Given the description of an element on the screen output the (x, y) to click on. 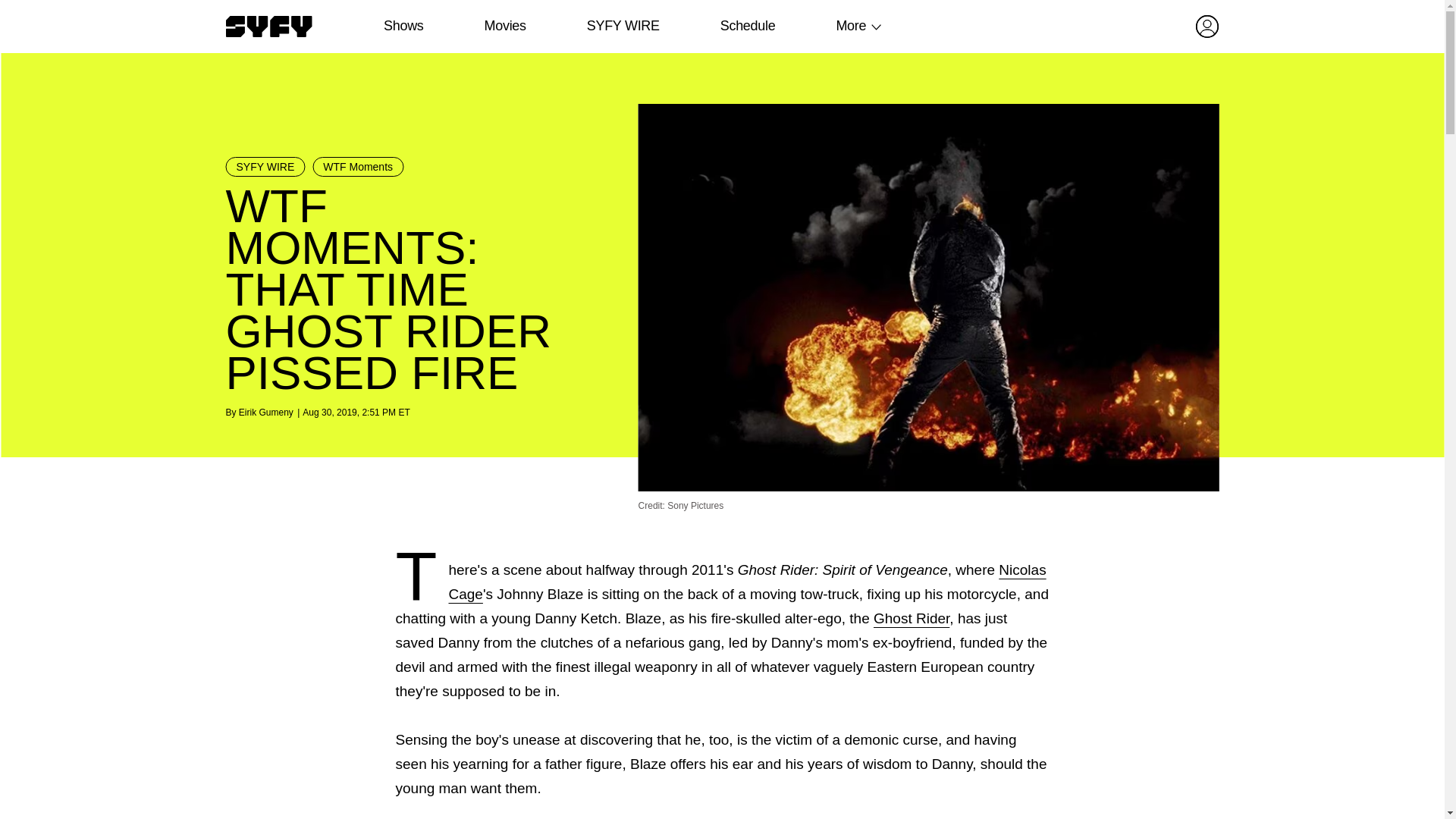
SYFY WIRE (622, 26)
WTF Moments (358, 166)
SYFY WIRE (265, 166)
Eirik Gumeny (266, 412)
Nicolas Cage (746, 581)
Ghost Rider (911, 618)
More (850, 26)
Schedule (746, 26)
Shows (403, 26)
